Given the description of an element on the screen output the (x, y) to click on. 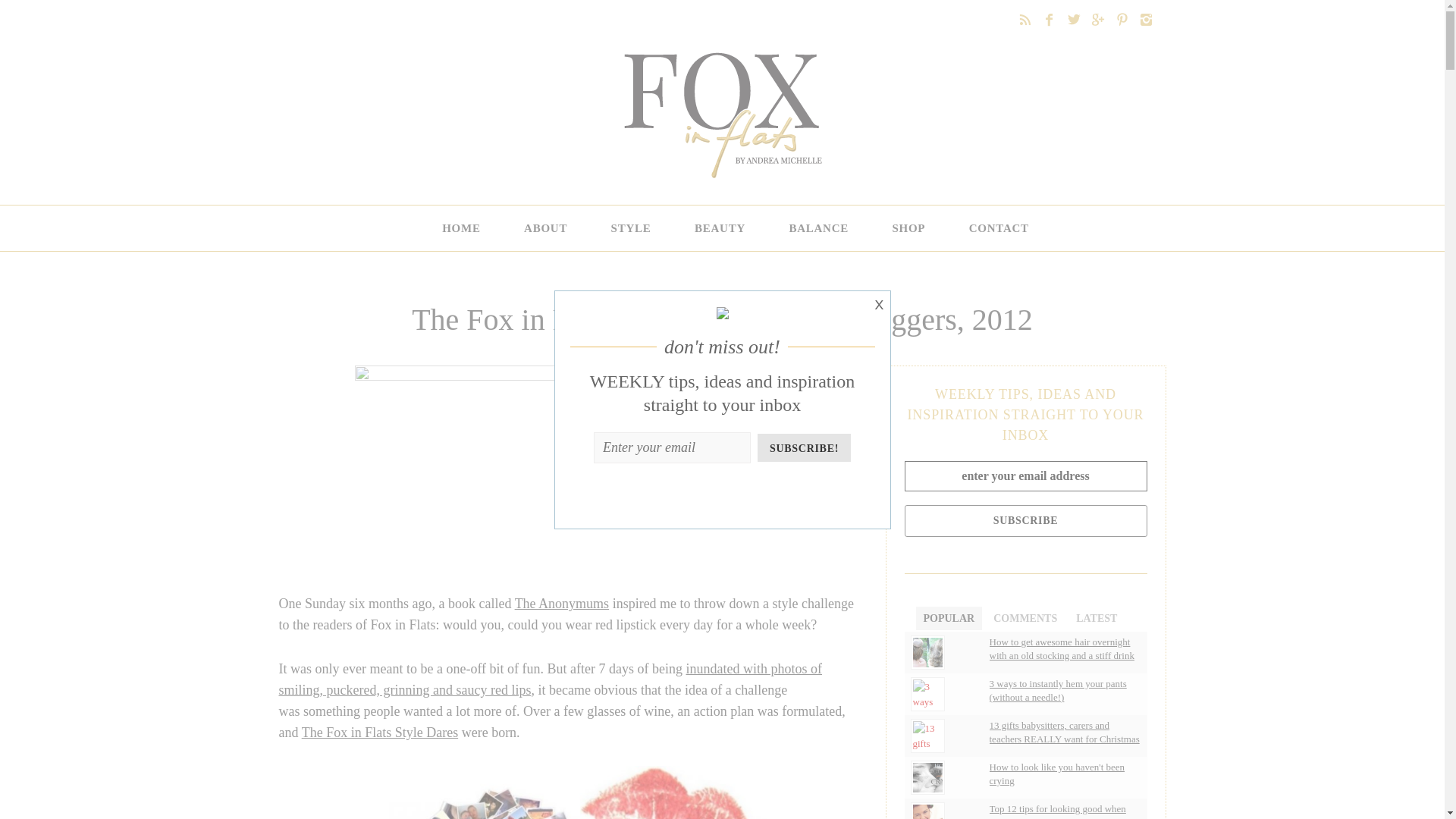
STYLE Element type: text (626, 228)
HOME Element type: text (456, 228)
BALANCE Element type: text (813, 228)
How to look like you haven't been crying Element type: text (1064, 773)
BEAUTY Element type: text (715, 228)
Fox in Flats Top 50 Style Dare Bloggers Element type: hover (570, 467)
The Fox in Flats Style Dares Element type: text (379, 732)
LATEST Element type: text (1096, 618)
POPULAR Element type: text (949, 618)
ABOUT Element type: text (540, 228)
The Anonymums Element type: text (561, 603)
CONTACT Element type: text (985, 228)
SUBSCRIBE! Element type: text (803, 447)
Subscribe Element type: text (1024, 520)
SHOP Element type: text (903, 228)
3 ways to instantly hem your pants (without a needle!) Element type: text (1064, 690)
COMMENTS Element type: text (1024, 618)
